Given the description of an element on the screen output the (x, y) to click on. 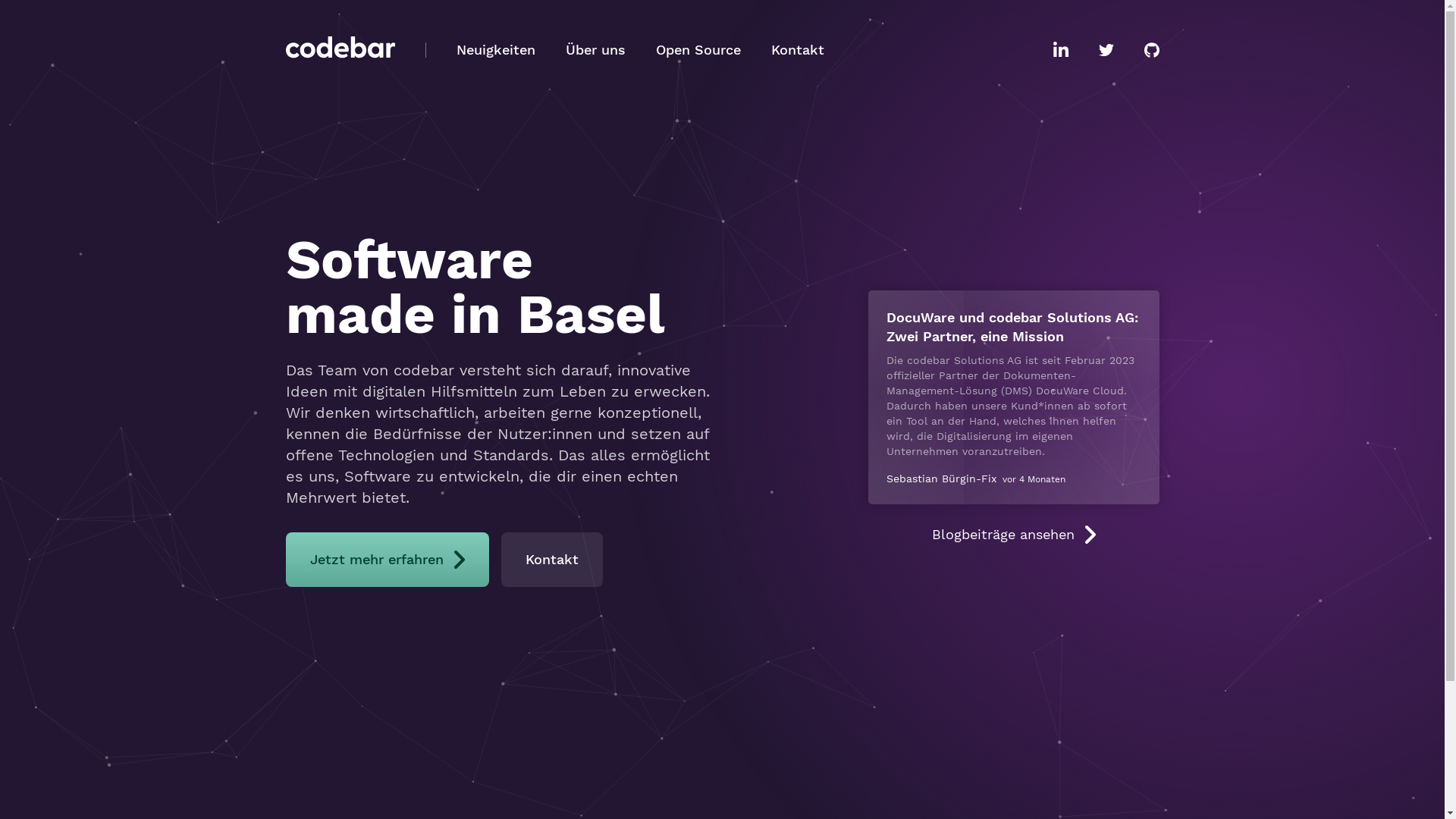
codebar Solutions AG Element type: hover (339, 50)
Github Element type: hover (1150, 50)
Neuigkeiten Element type: text (495, 49)
Jetzt mehr erfahren Element type: text (386, 559)
Twitter Element type: hover (1105, 49)
Open Source Element type: text (697, 49)
LinkedIn Element type: hover (1059, 50)
Kontakt Element type: text (551, 559)
Kontakt Element type: text (796, 49)
